Given the description of an element on the screen output the (x, y) to click on. 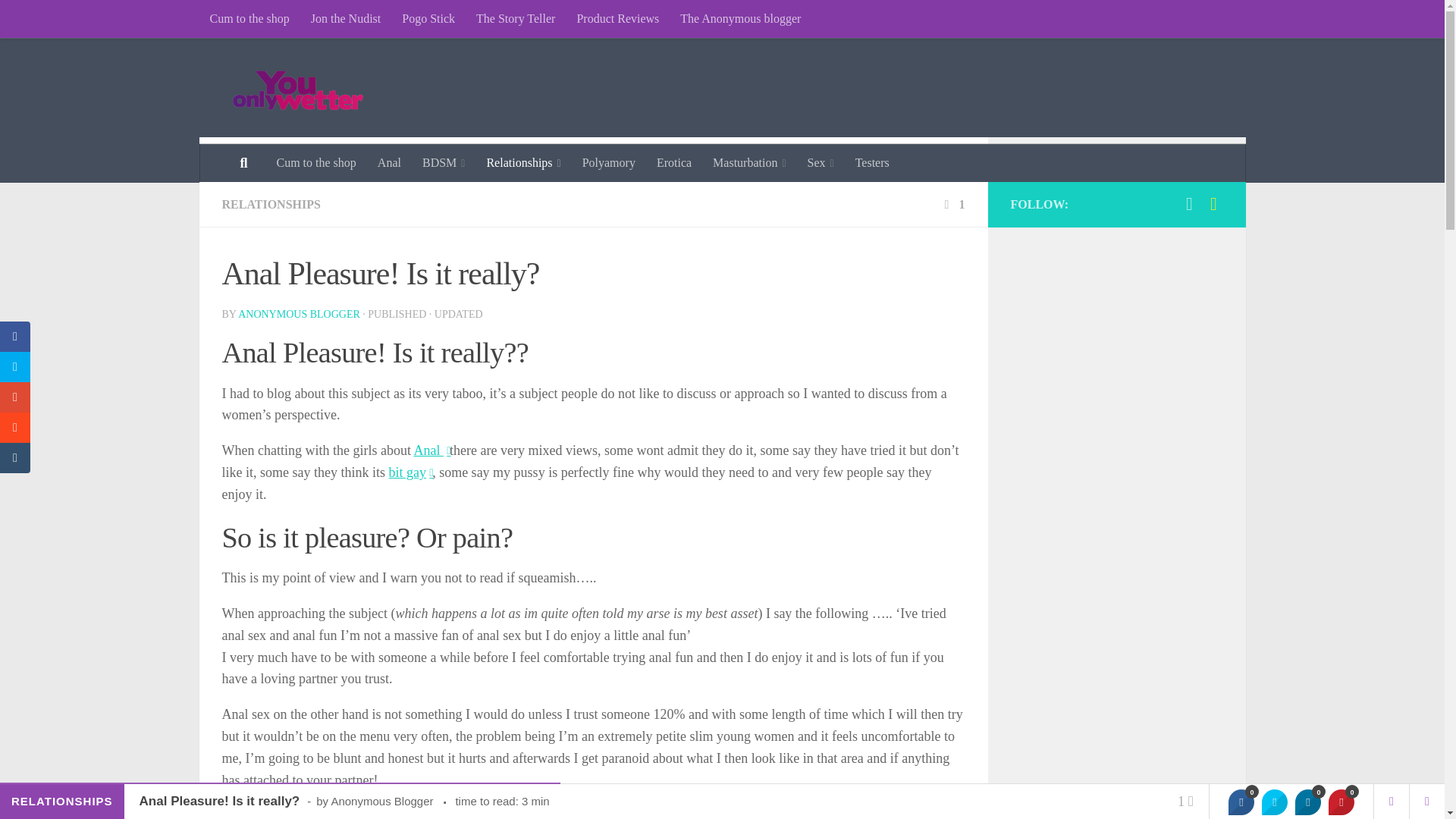
Posts by Anonymous Blogger (298, 314)
Cum to the shop (248, 18)
Follow us on Twitter (1188, 203)
Anal sex getting really popular among heterosexuals (410, 472)
Follow us on Snapchat (1213, 203)
The Story Teller (515, 18)
Product Reviews (617, 18)
Jon the Nudist (345, 18)
The Anonymous blogger (739, 18)
BDSM (444, 162)
Cum to the shop (315, 162)
Anal (389, 162)
Pogo Stick (428, 18)
Skip to content (59, 20)
